Given the description of an element on the screen output the (x, y) to click on. 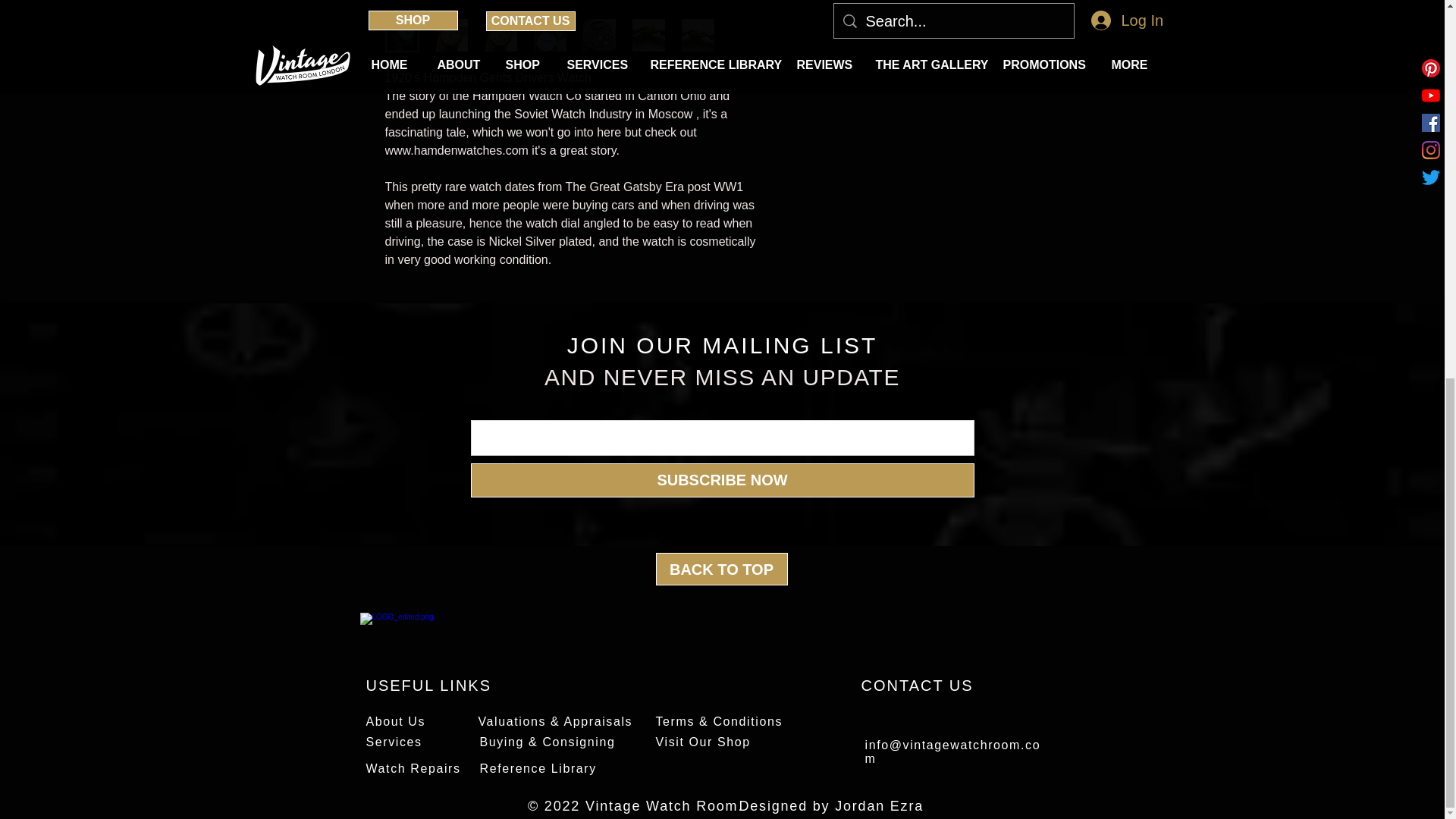
vintagewatchroom - logos - pentagon-09-09.png (402, 631)
